Given the description of an element on the screen output the (x, y) to click on. 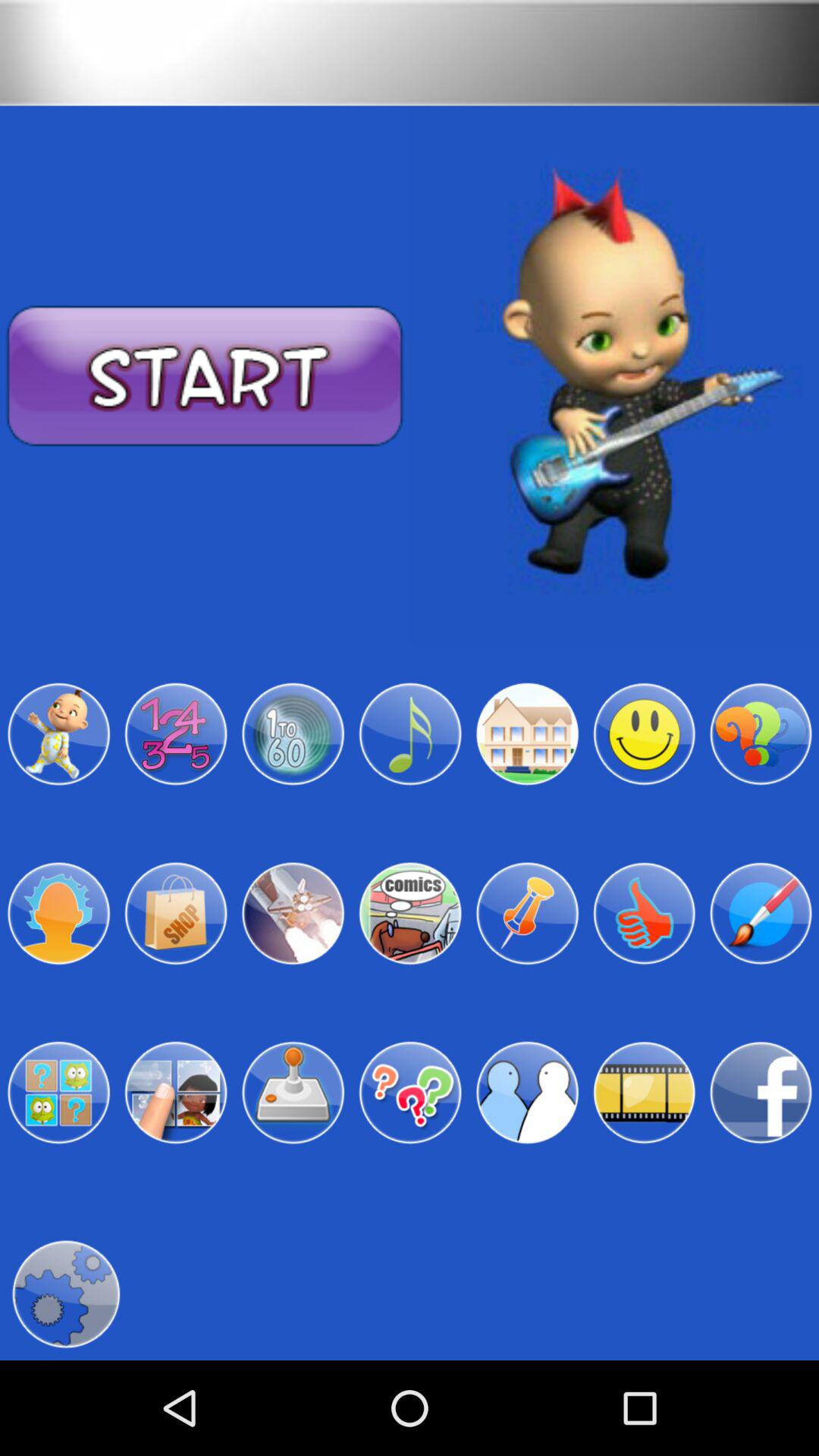
science menu (292, 913)
